Given the description of an element on the screen output the (x, y) to click on. 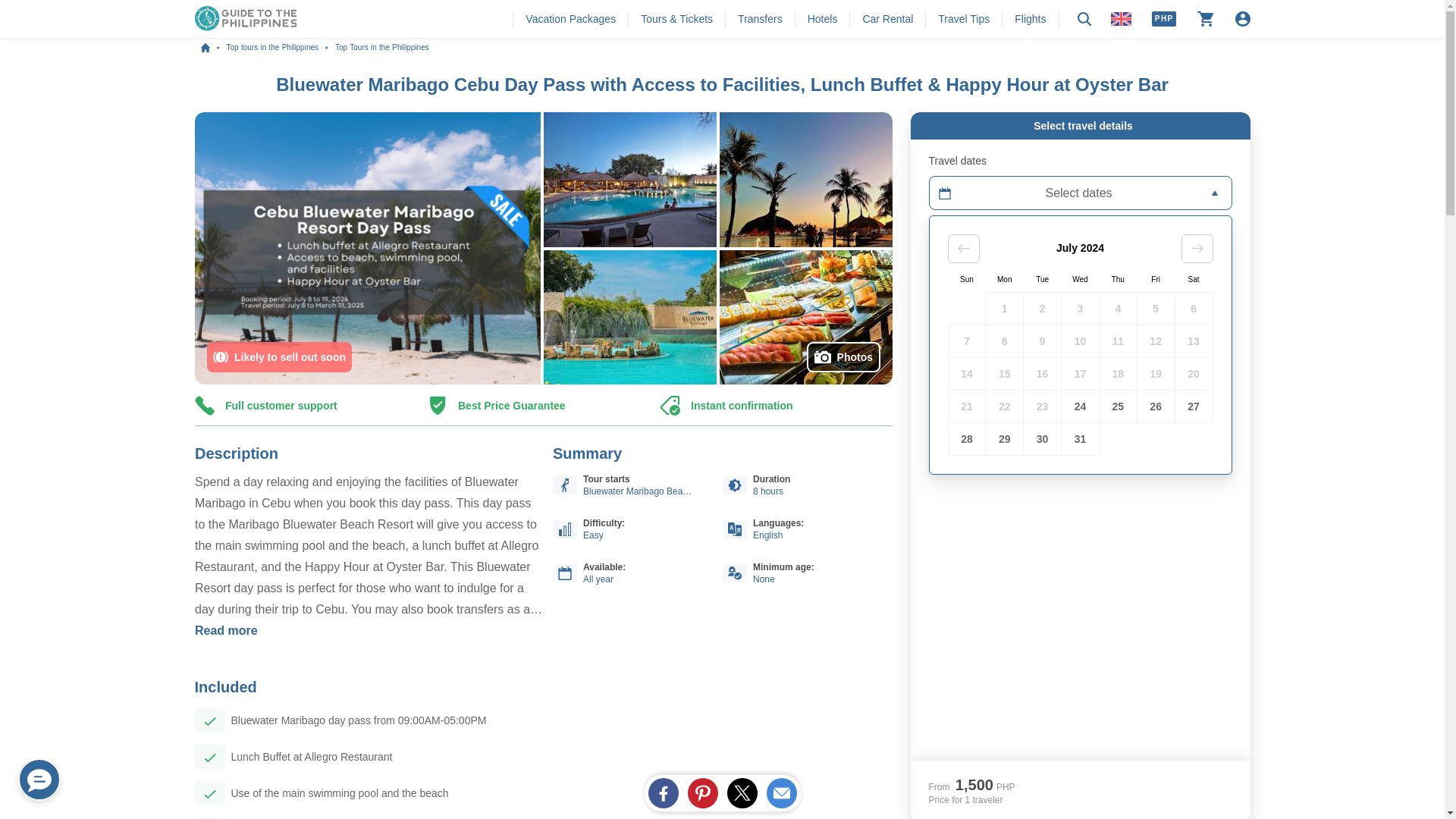
Travel Tips (963, 18)
Friday (1155, 279)
Sunday (966, 279)
Photos (842, 357)
Flights (1029, 18)
Car Rental (886, 18)
Top Tours in the Philippines (381, 47)
Top Tours in the Philippines (381, 47)
Contact us (39, 779)
Top tours in the Philippines (279, 47)
Vacation Packages (570, 18)
Guide to the Philippines (212, 47)
Wednesday (1079, 279)
PHP (1162, 18)
Saturday (1193, 279)
